Given the description of an element on the screen output the (x, y) to click on. 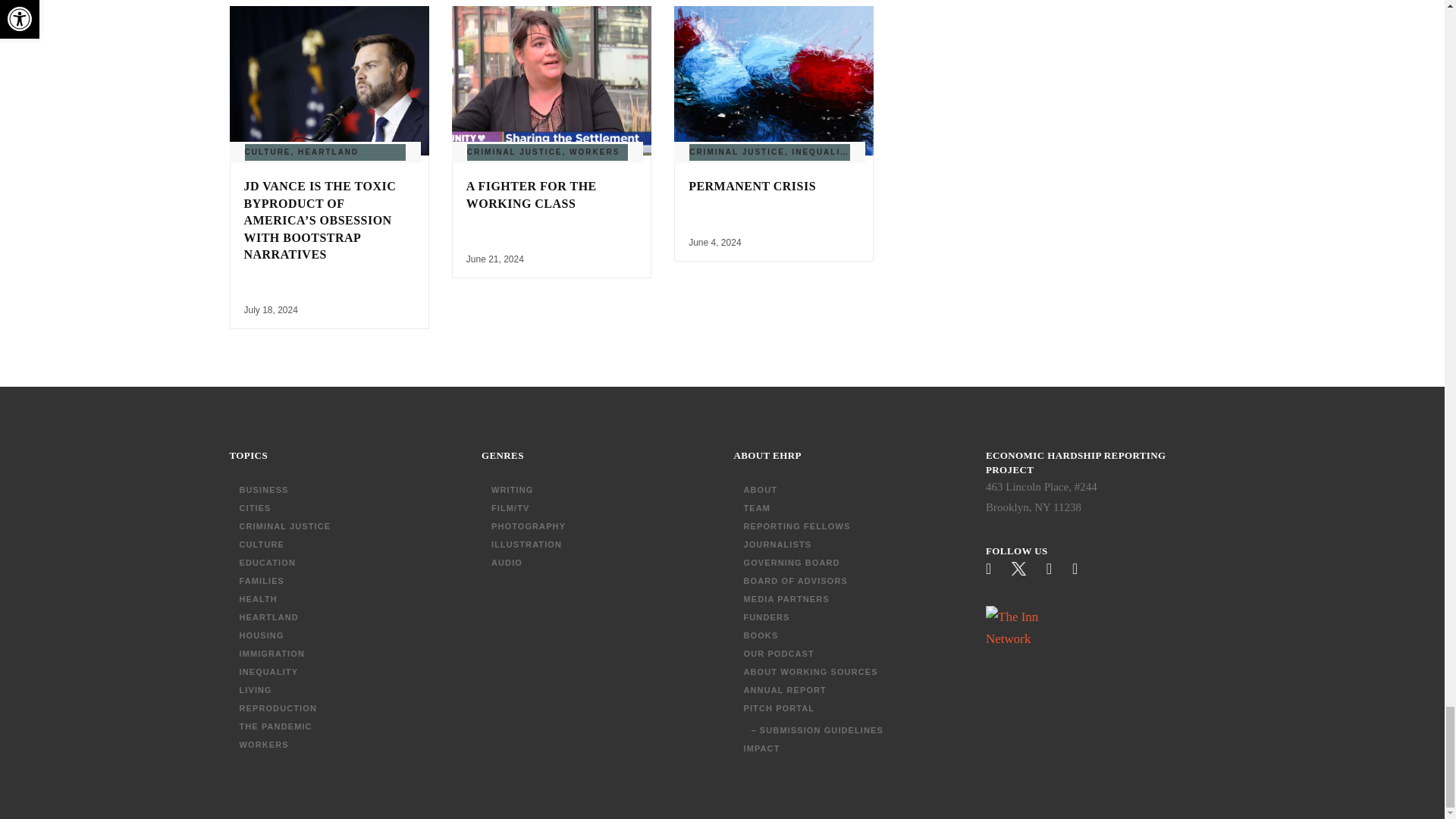
A Fighter for the Working Class (530, 194)
Permanent Crisis (773, 80)
Permanent Crisis (751, 185)
A Fighter for the Working Class (550, 80)
